Given the description of an element on the screen output the (x, y) to click on. 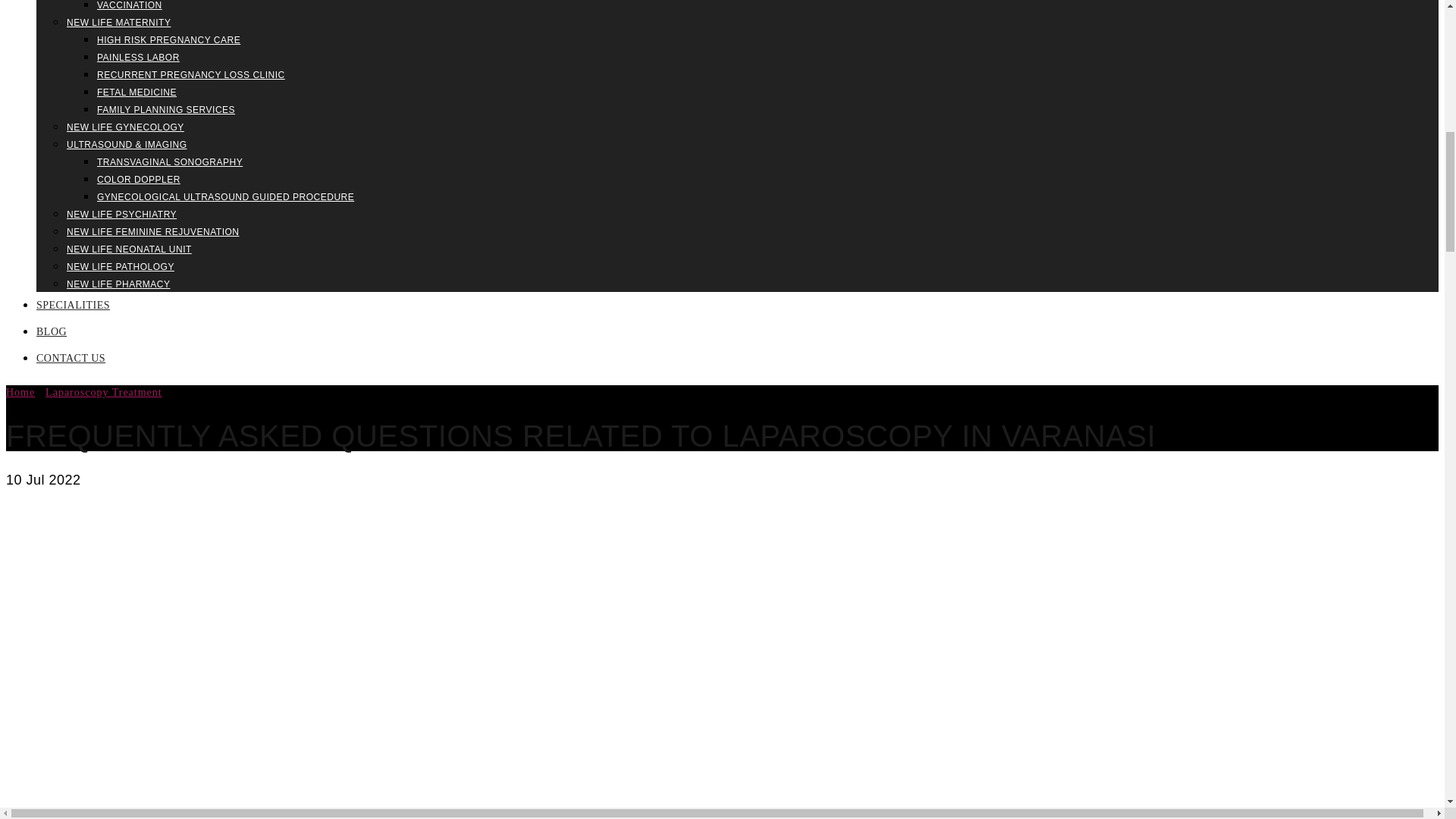
RECURRENT PREGNANCY LOSS CLINIC (191, 74)
FAMILY PLANNING SERVICES (165, 109)
PAINLESS LABOR (138, 57)
FETAL MEDICINE (136, 91)
NEW LIFE GYNECOLOGY (125, 127)
NEW LIFE MATERNITY (118, 22)
VACCINATION (129, 5)
HIGH RISK PREGNANCY CARE (168, 40)
